Given the description of an element on the screen output the (x, y) to click on. 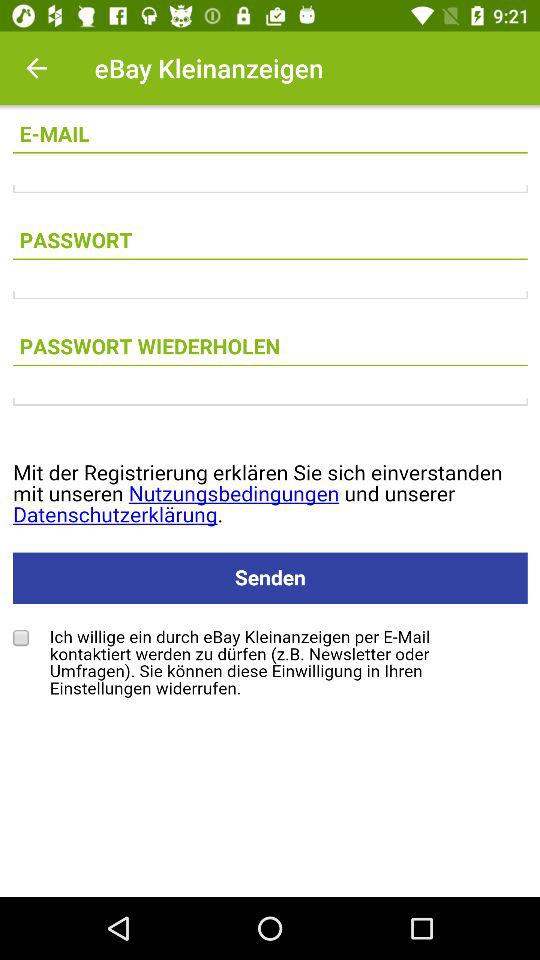
backword the option (36, 68)
